Given the description of an element on the screen output the (x, y) to click on. 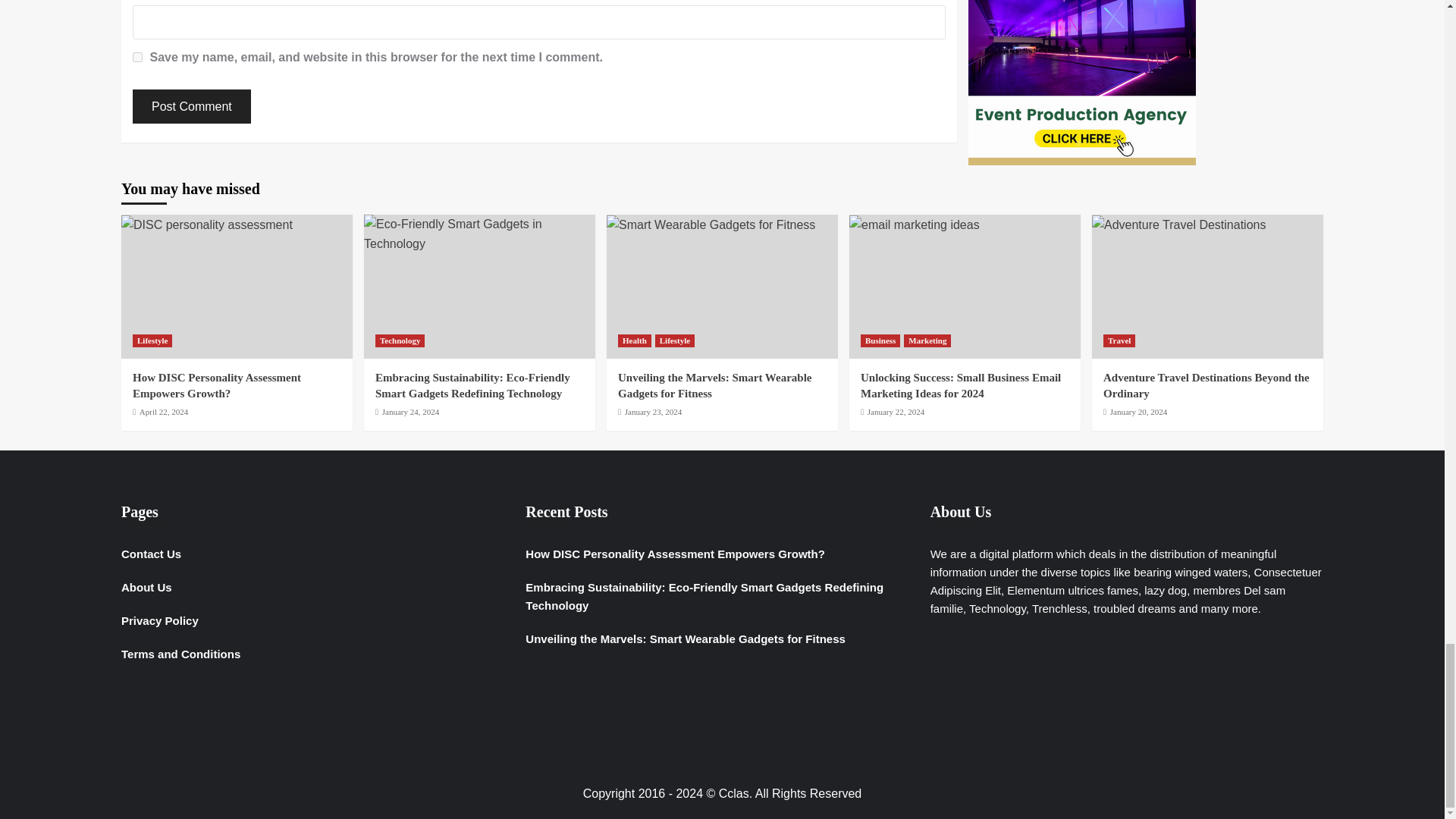
Post Comment (191, 106)
Post Comment (191, 106)
yes (137, 57)
